Given the description of an element on the screen output the (x, y) to click on. 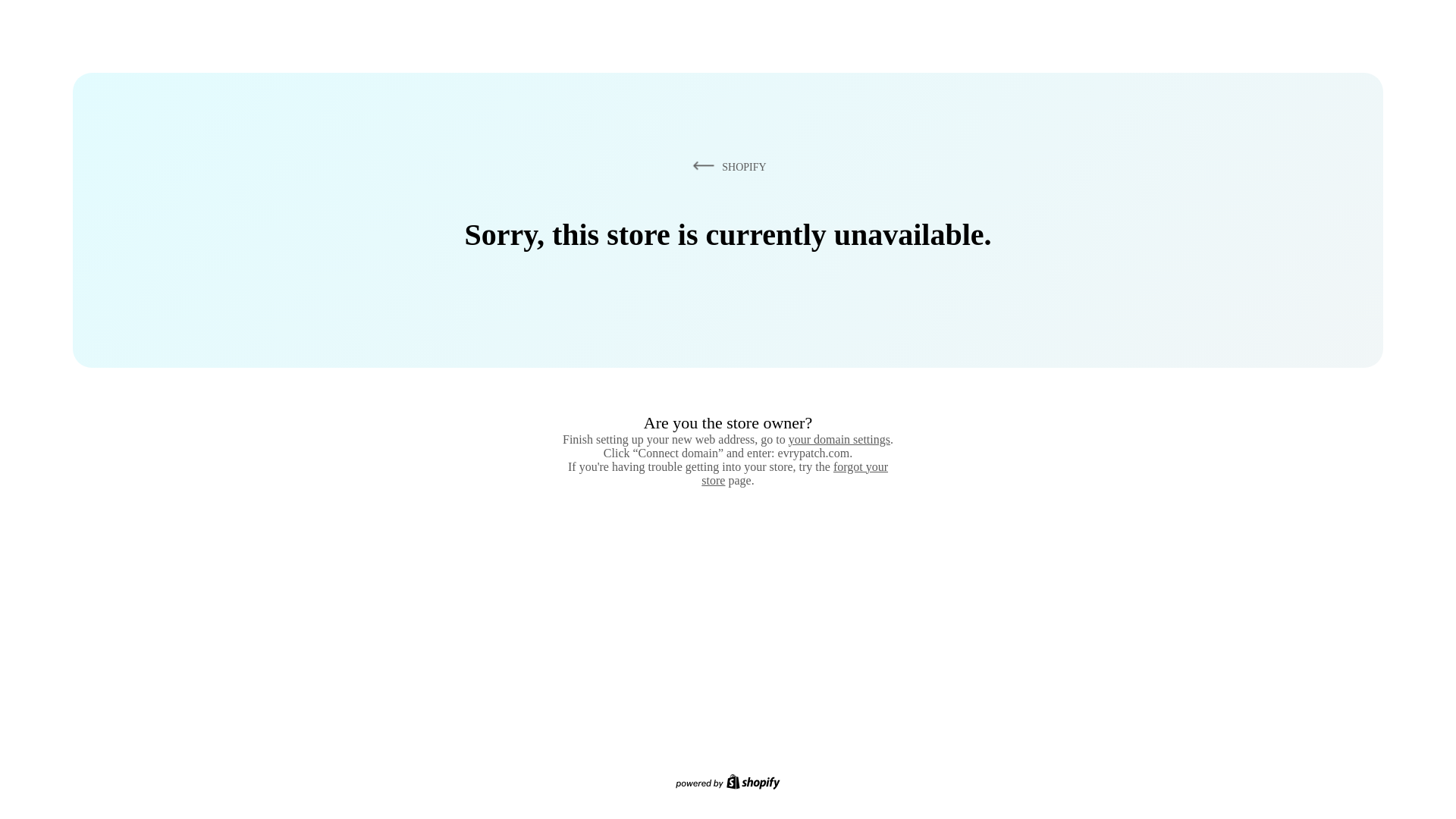
your domain settings (839, 439)
SHOPIFY (726, 166)
forgot your store (794, 473)
